Given the description of an element on the screen output the (x, y) to click on. 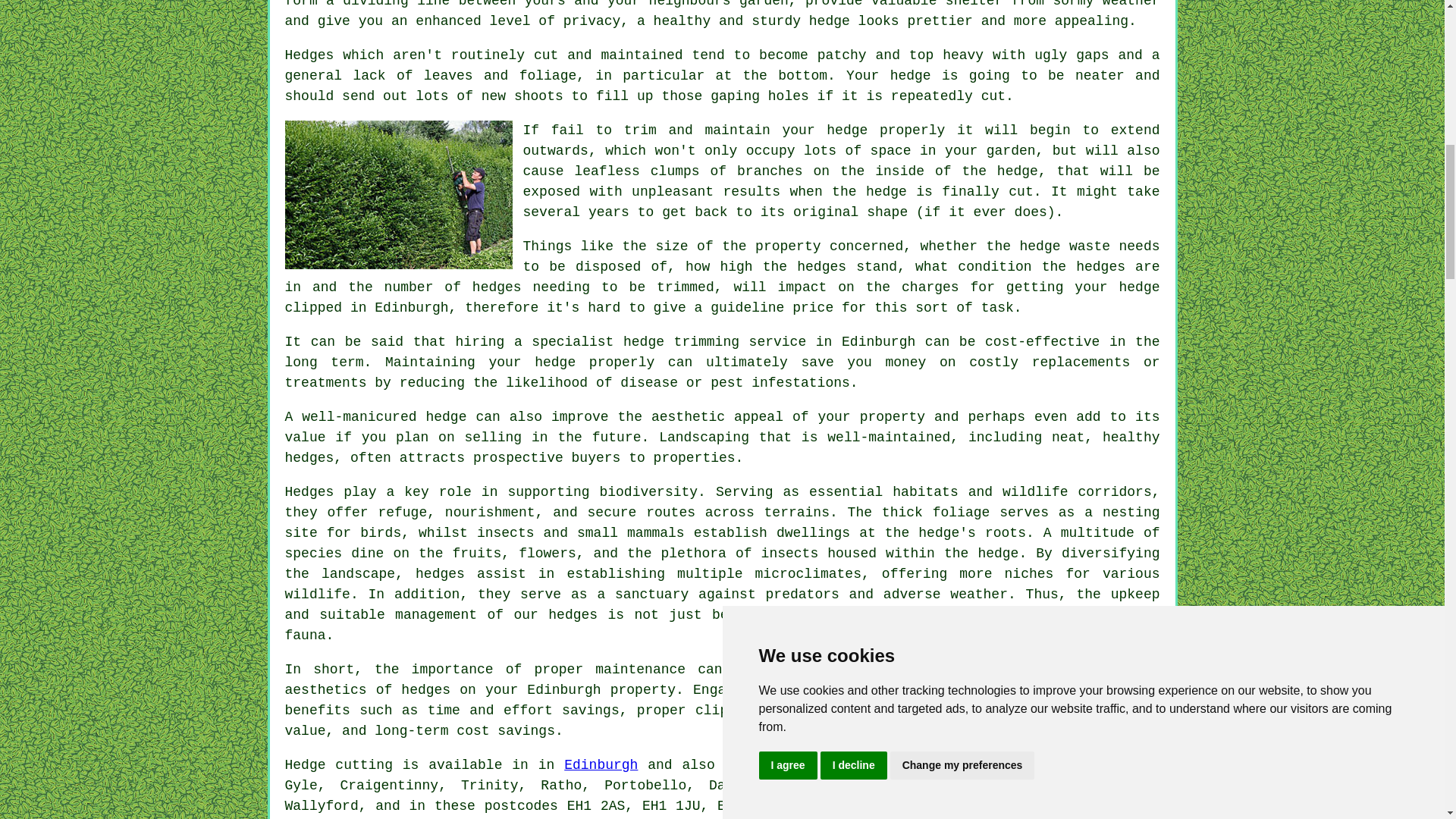
hedge waste (1064, 246)
Hedge Trimming Edinburgh (398, 194)
hedge trimming company (967, 689)
hedges (572, 614)
Hedge (305, 765)
